Given the description of an element on the screen output the (x, y) to click on. 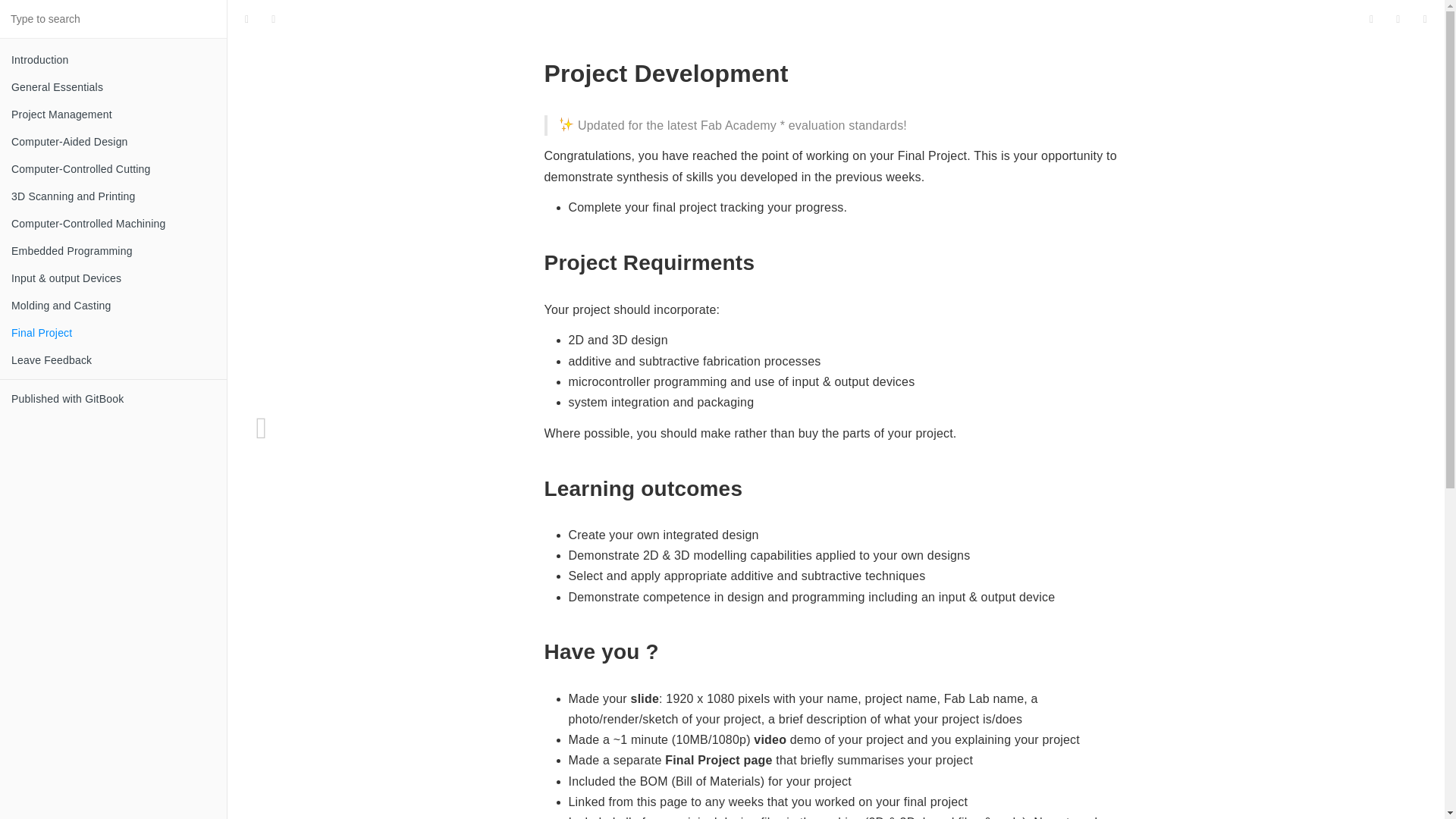
Published with GitBook (113, 398)
Project Management (113, 113)
Final Project (113, 332)
General Essentials (113, 86)
Computer-Aided Design (113, 141)
Introduction (113, 59)
3D Scanning and Printing (113, 195)
:sparkles: (565, 124)
Embedded Programming (113, 250)
Leave Feedback (113, 359)
Molding and Casting (113, 305)
Computer-Controlled Cutting (113, 168)
Computer-Controlled Machining (113, 223)
